Given the description of an element on the screen output the (x, y) to click on. 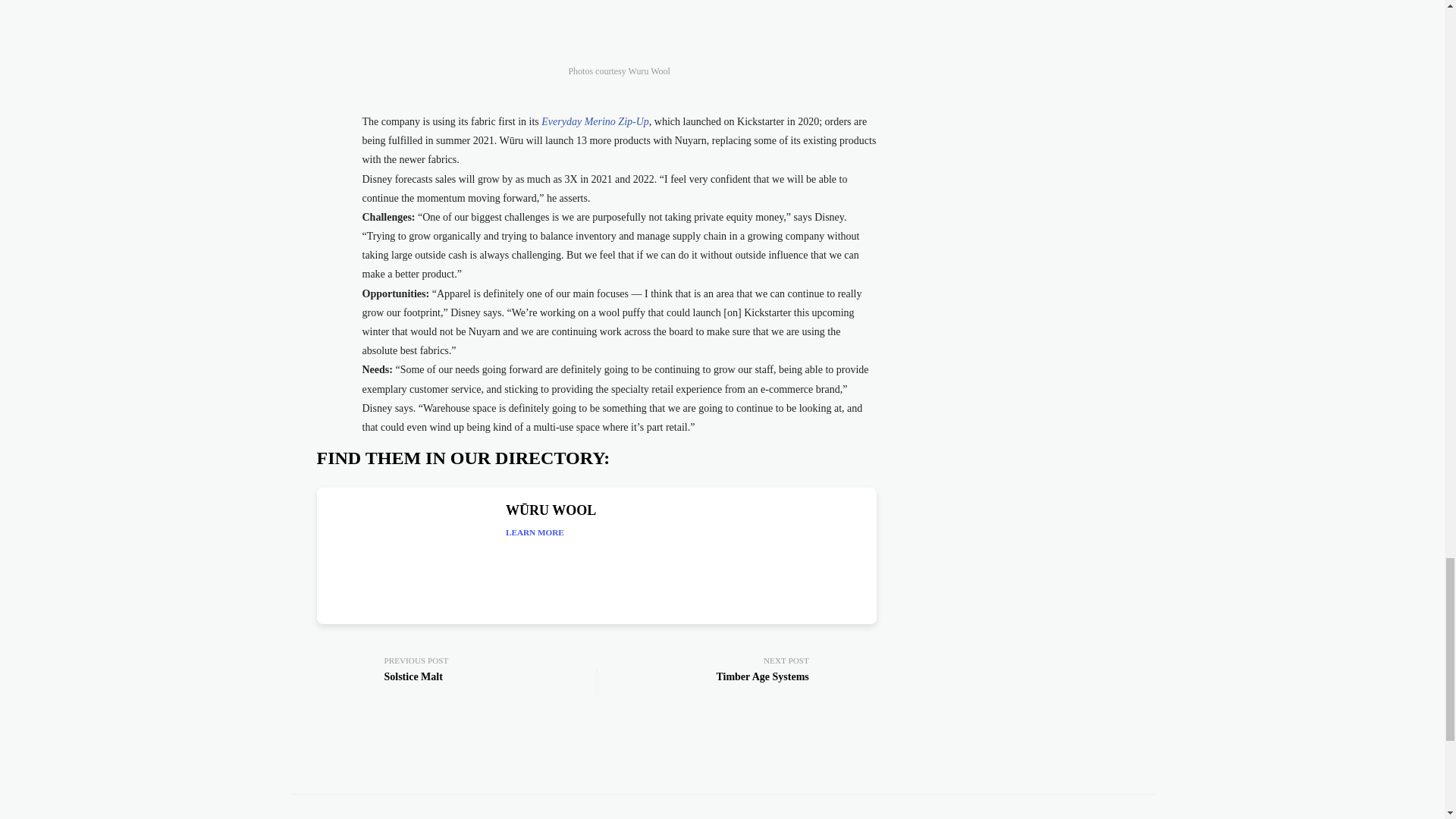
Everyday Merino Zip-Up (595, 121)
LEARN MORE (742, 682)
